Given the description of an element on the screen output the (x, y) to click on. 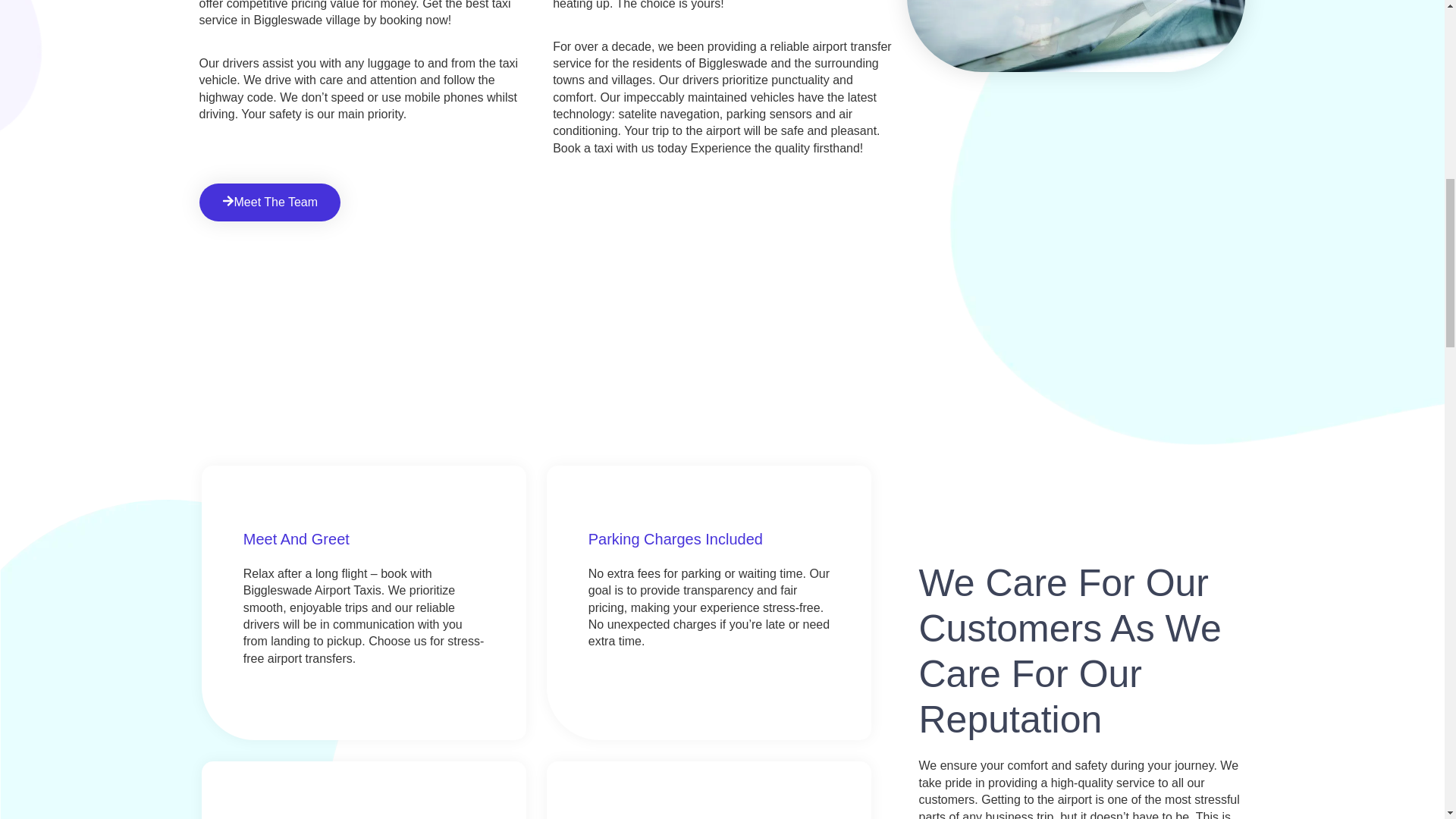
Meet The Team (269, 202)
About (1076, 36)
